Given the description of an element on the screen output the (x, y) to click on. 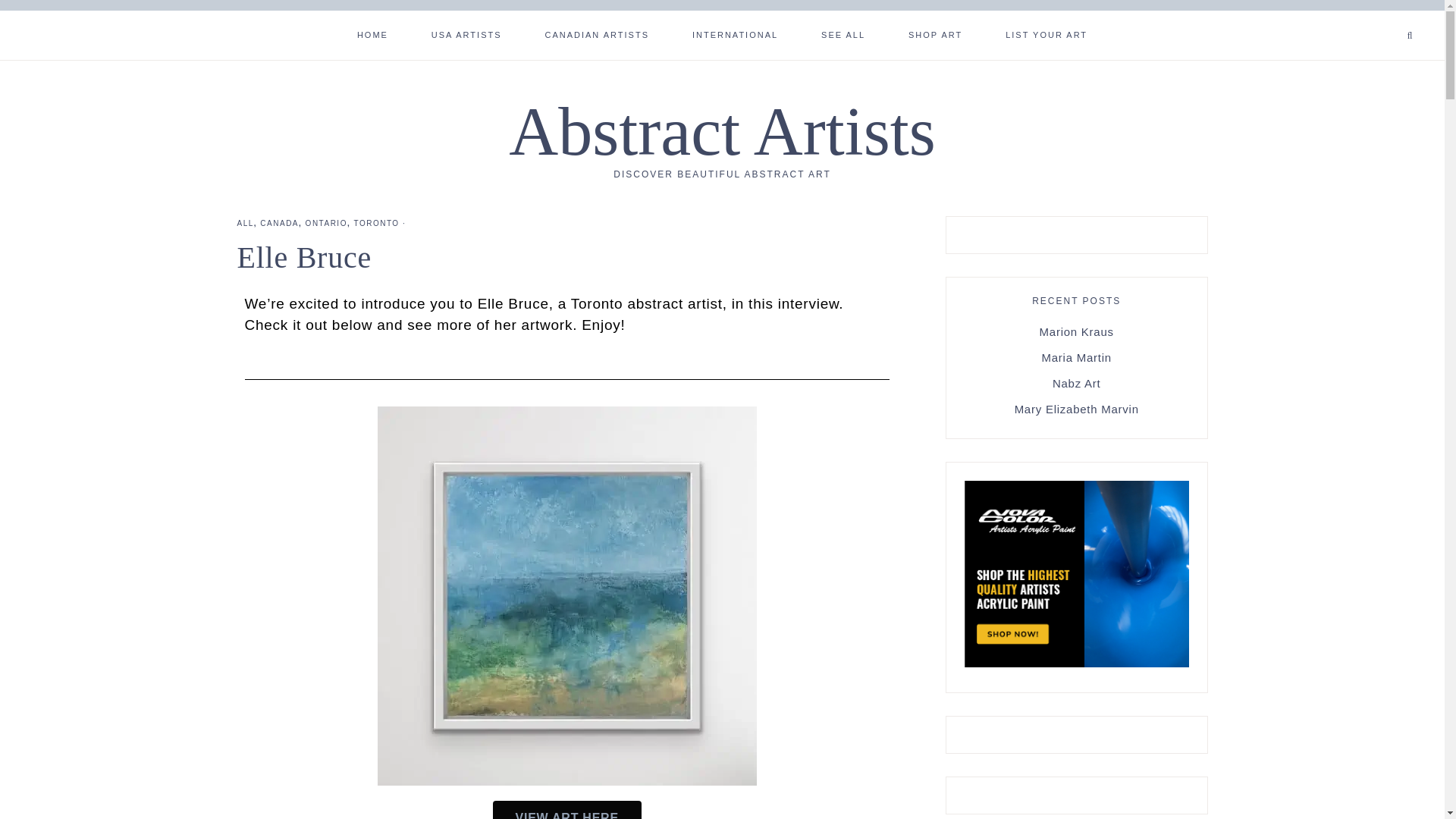
Abstract Artists (721, 131)
LIST YOUR ART (1045, 33)
ONTARIO (326, 223)
CANADIAN ARTISTS (596, 33)
CANADA (279, 223)
TORONTO (375, 223)
USA ARTISTS (466, 33)
INTERNATIONAL (734, 33)
VIEW ART HERE (567, 809)
ALL (244, 223)
SHOP ART (934, 33)
HOME (372, 33)
SEE ALL (843, 33)
